Given the description of an element on the screen output the (x, y) to click on. 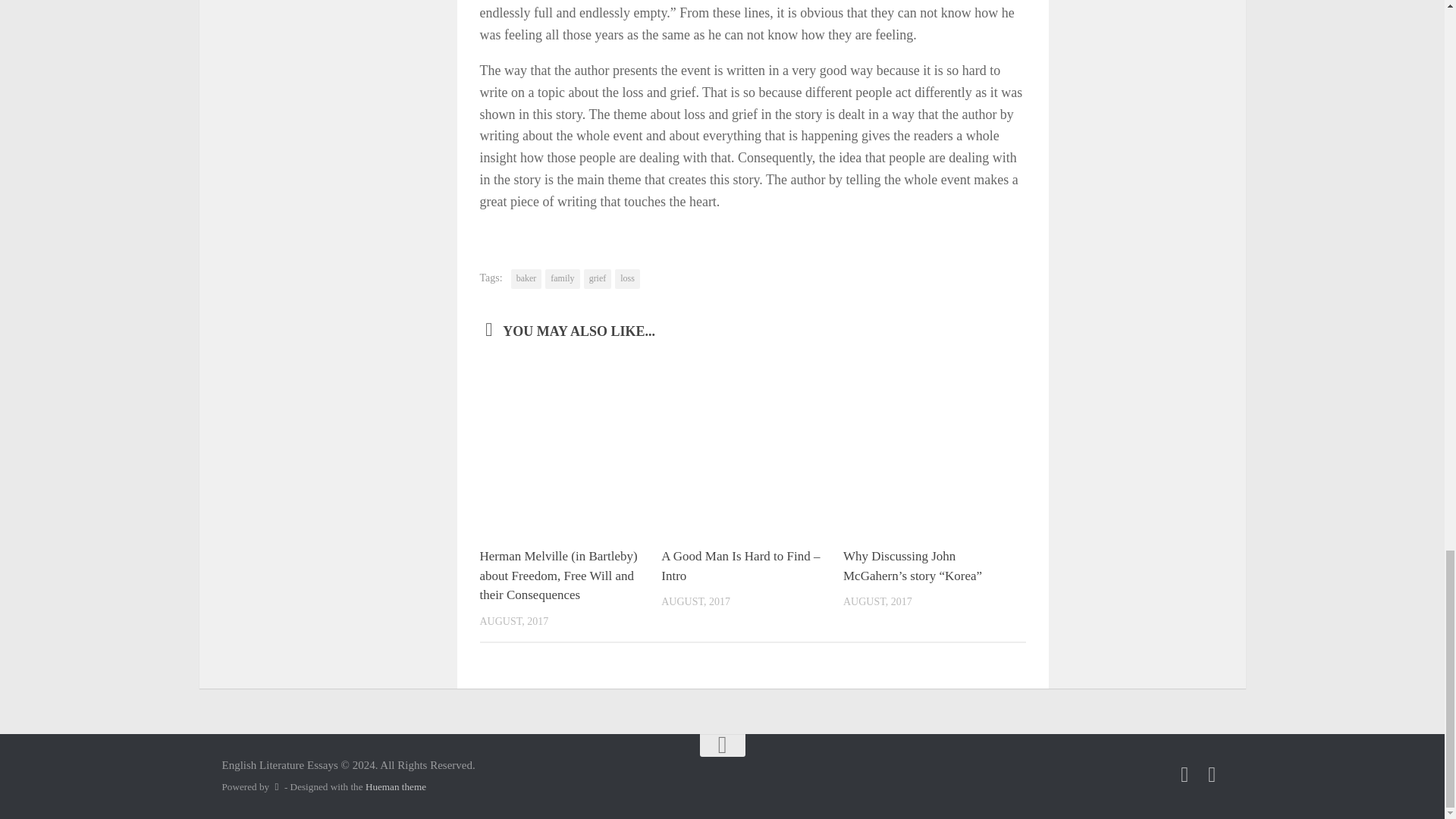
grief (597, 279)
Follow us on Twitter (1212, 774)
Hueman theme (395, 786)
baker (526, 279)
Powered by WordPress (275, 786)
Follow us on Facebook (1184, 774)
family (561, 279)
Hueman theme (395, 786)
loss (627, 279)
